Given the description of an element on the screen output the (x, y) to click on. 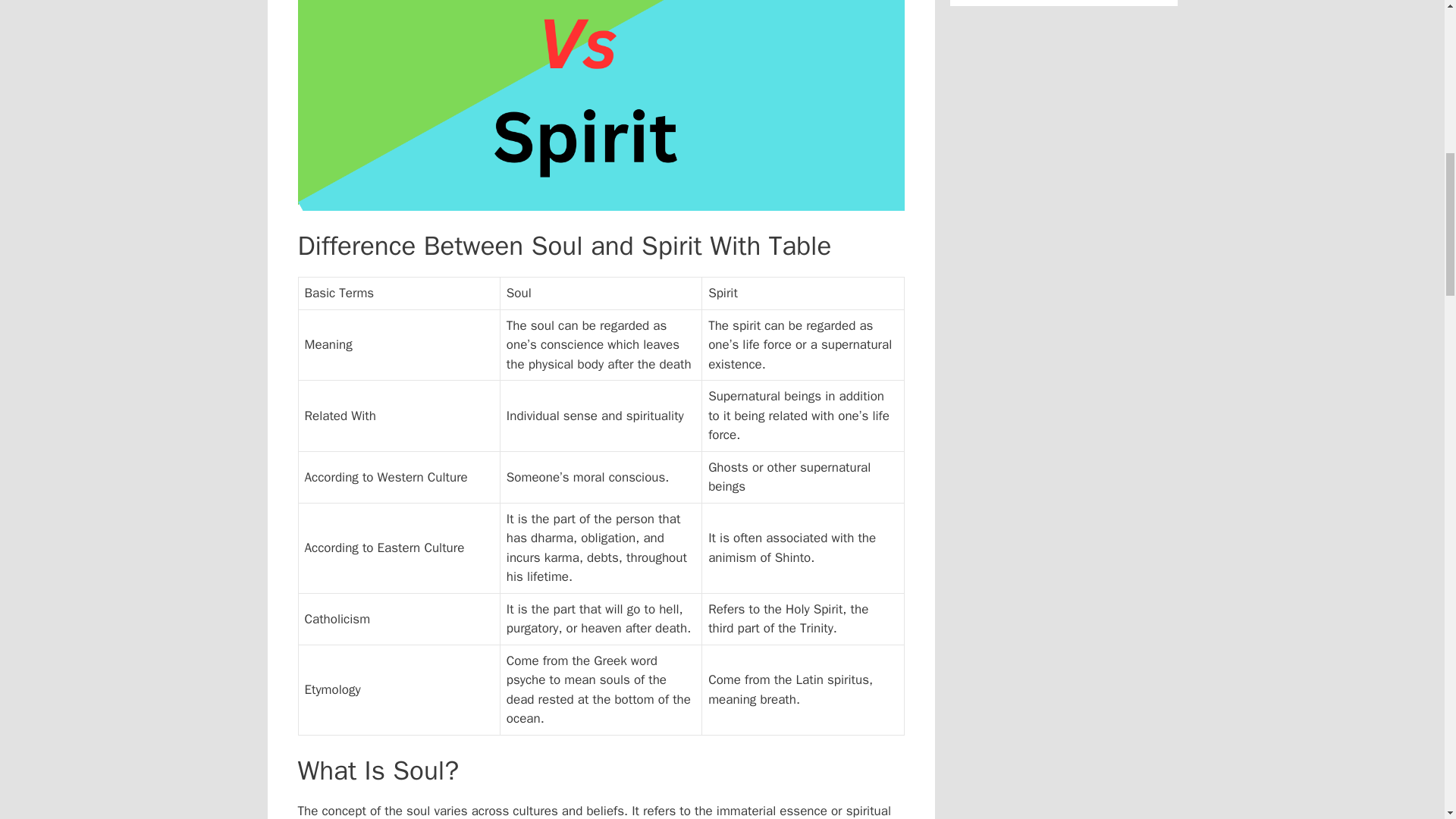
Scroll back to top (1406, 720)
